Given the description of an element on the screen output the (x, y) to click on. 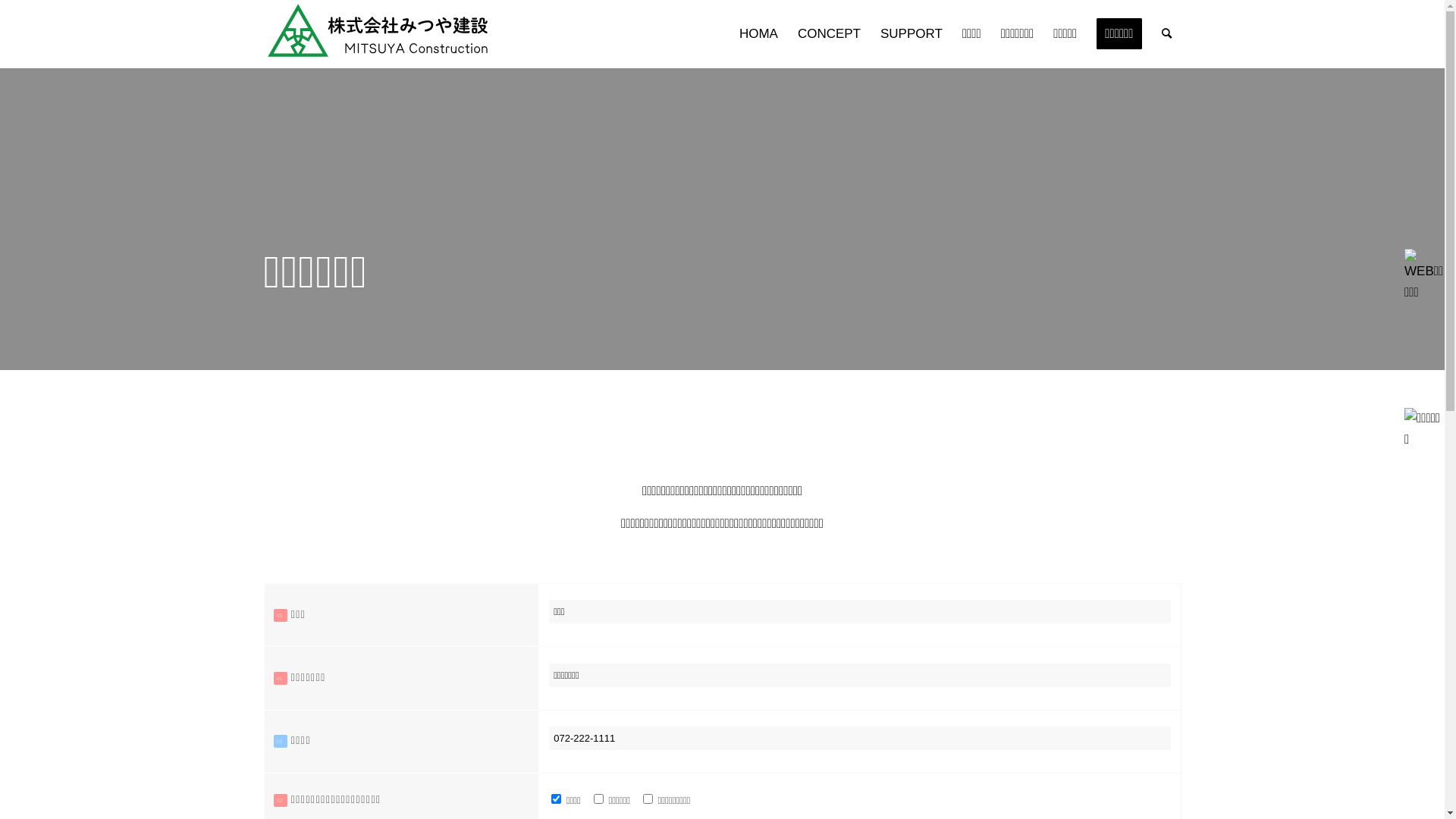
SUPPORT Element type: text (911, 33)
HOMA Element type: text (758, 33)
CONCEPT Element type: text (828, 33)
